Given the description of an element on the screen output the (x, y) to click on. 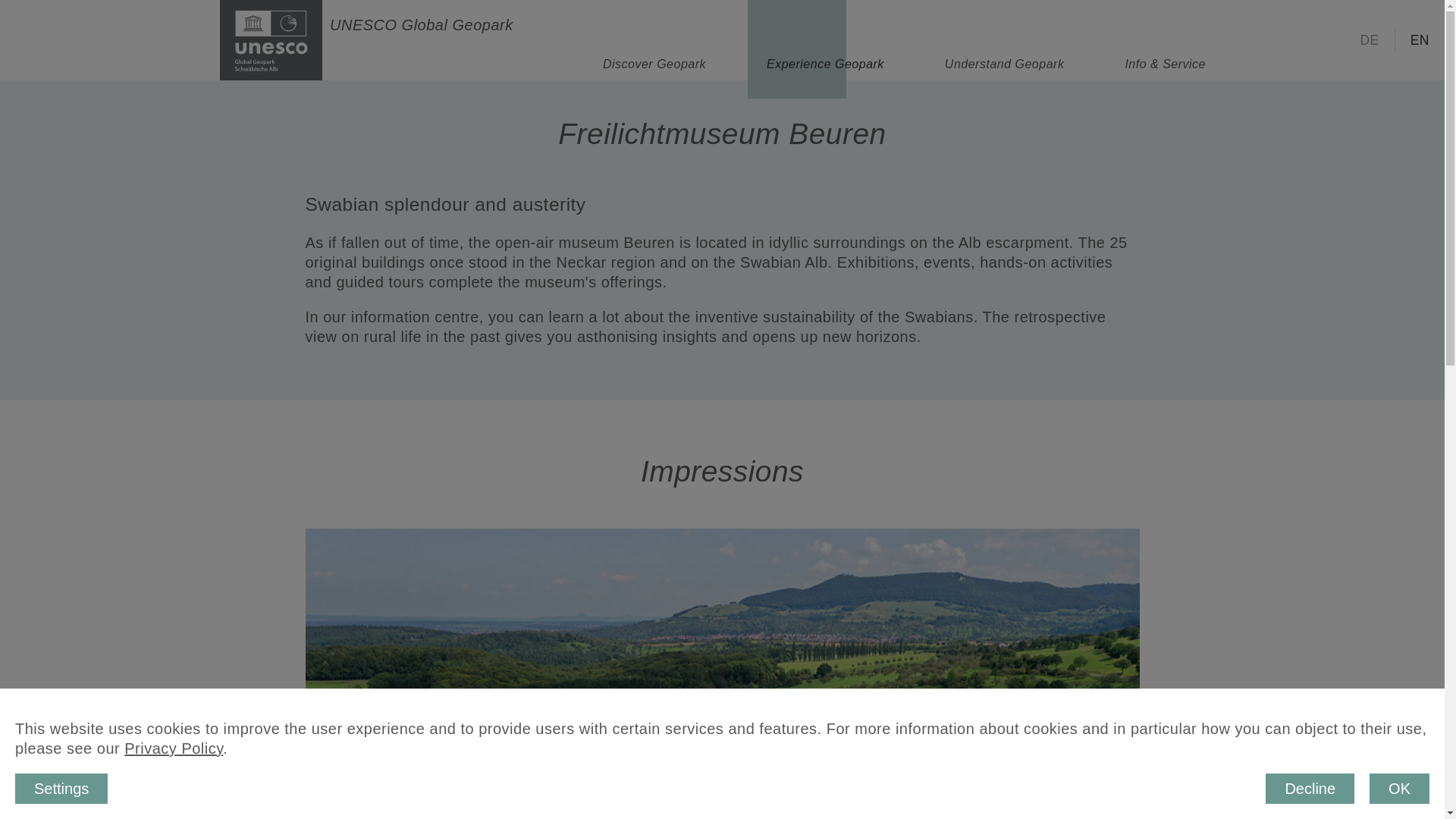
Understand Geopark (1004, 40)
EN (1419, 40)
Discover Geopark (654, 40)
Experience Geopark (825, 40)
DE (1368, 40)
